Given the description of an element on the screen output the (x, y) to click on. 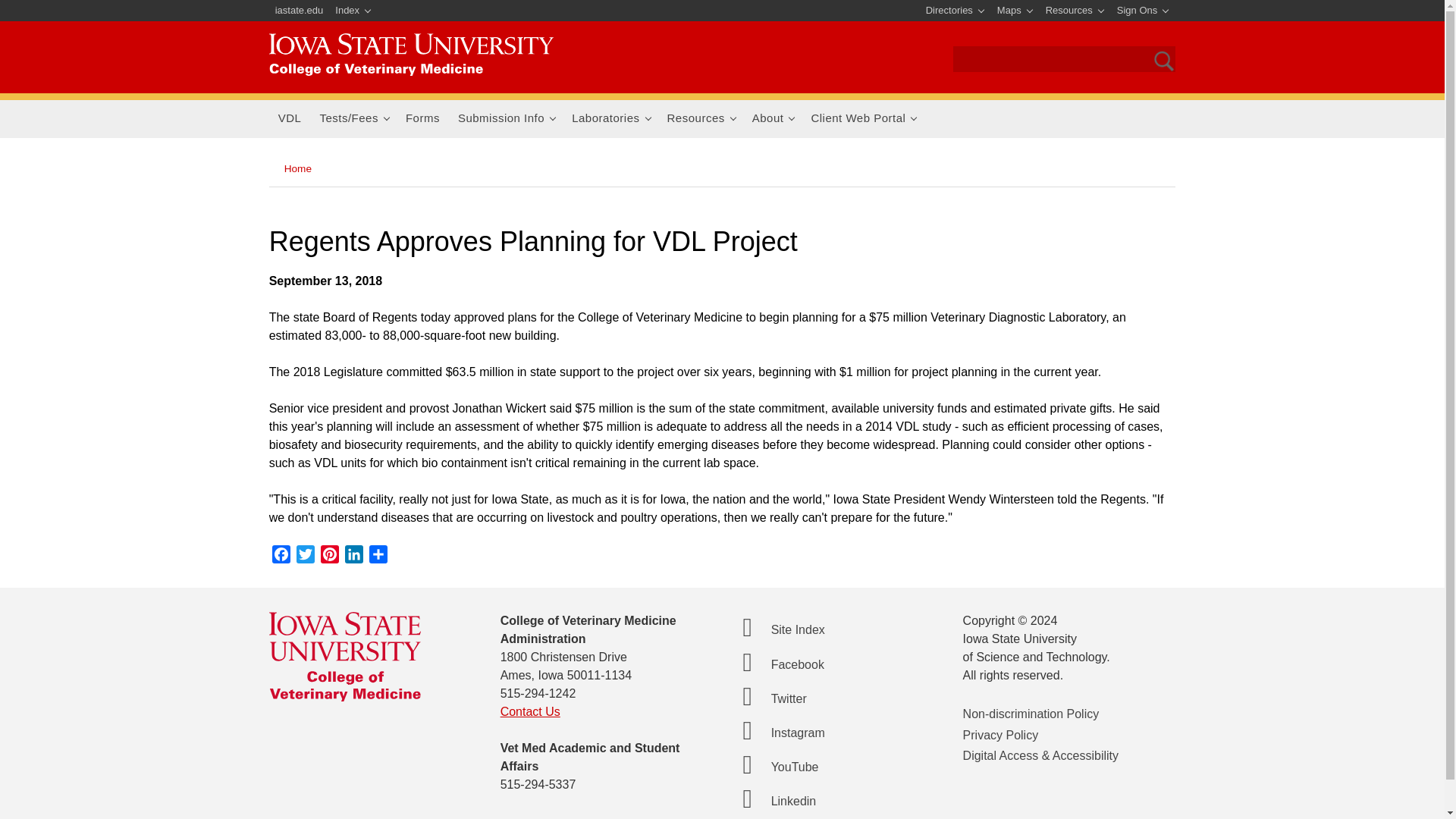
Index (353, 10)
Iowa State University (411, 54)
Skip to main content (685, 1)
Directories (955, 10)
Iowa State University Home Page (299, 10)
CVM Site and ISU Index (353, 10)
Resources (1074, 10)
Enter the terms you wish to search for. (1038, 60)
Sign Ons (1142, 10)
iastate.edu (299, 10)
Forms (422, 118)
VDL (290, 118)
Maps (1015, 10)
